Given the description of an element on the screen output the (x, y) to click on. 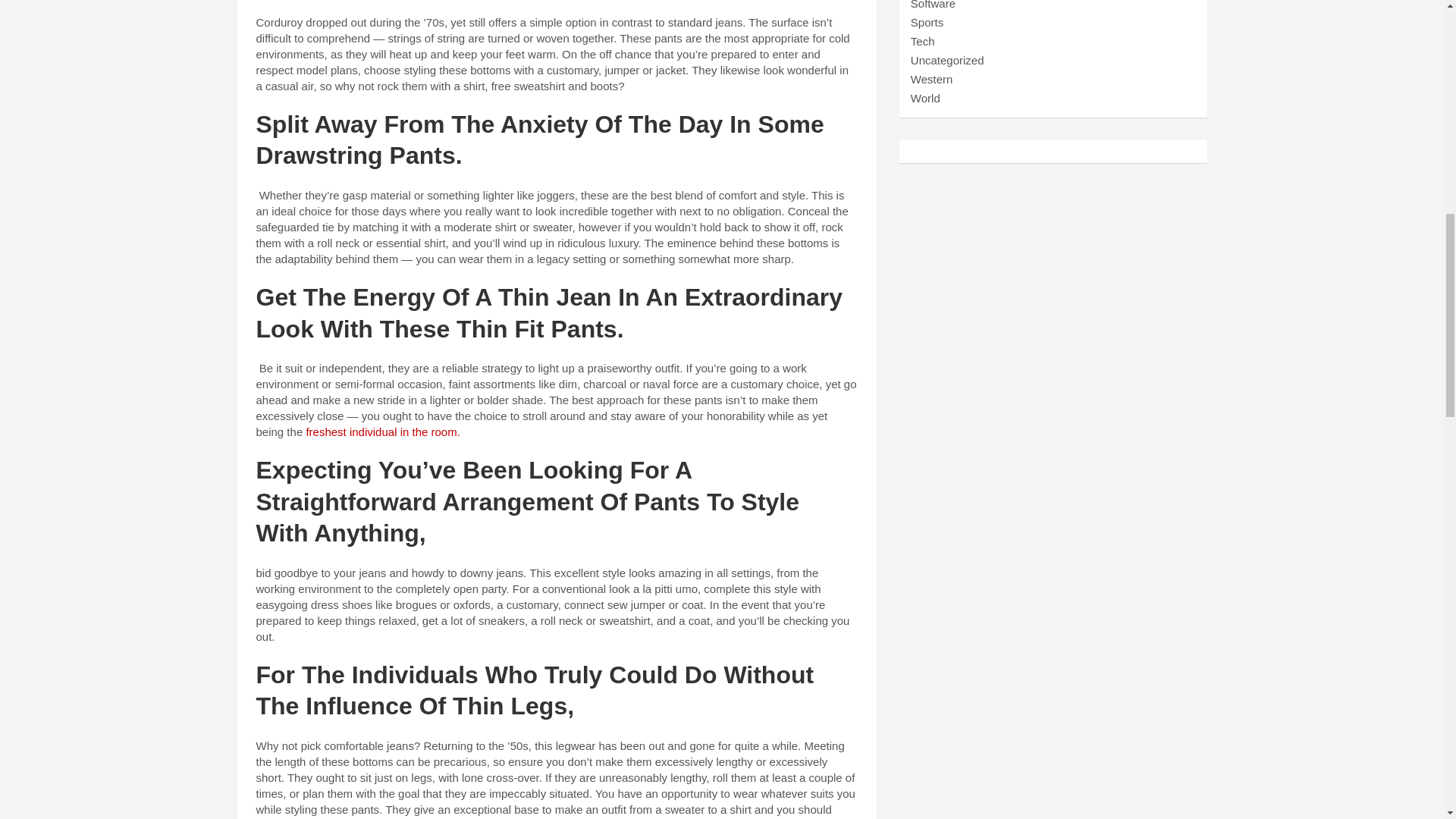
freshest individual in the room. (381, 431)
